Given the description of an element on the screen output the (x, y) to click on. 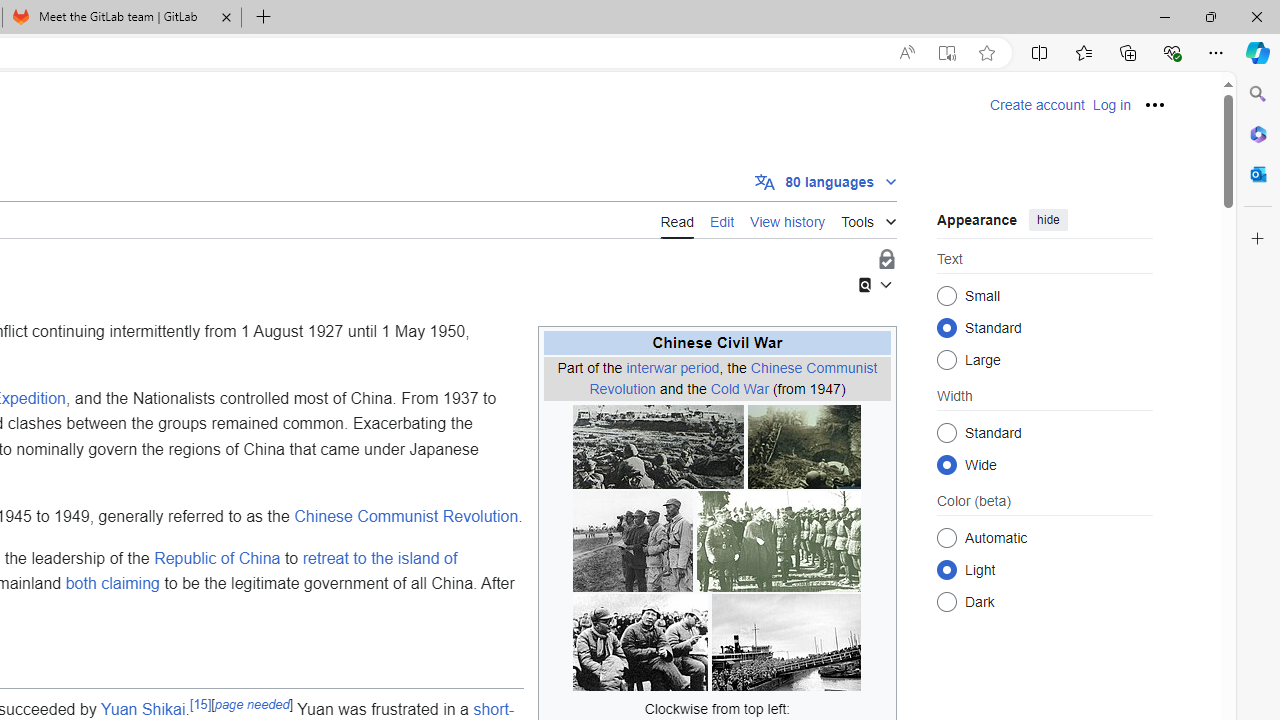
Edit (721, 219)
Light (946, 569)
Yuan Shikai (142, 708)
hide (1048, 219)
Dark (946, 601)
Page protected with pending changes (886, 259)
Read (676, 219)
Personal tools (1155, 104)
Read (676, 219)
